Given the description of an element on the screen output the (x, y) to click on. 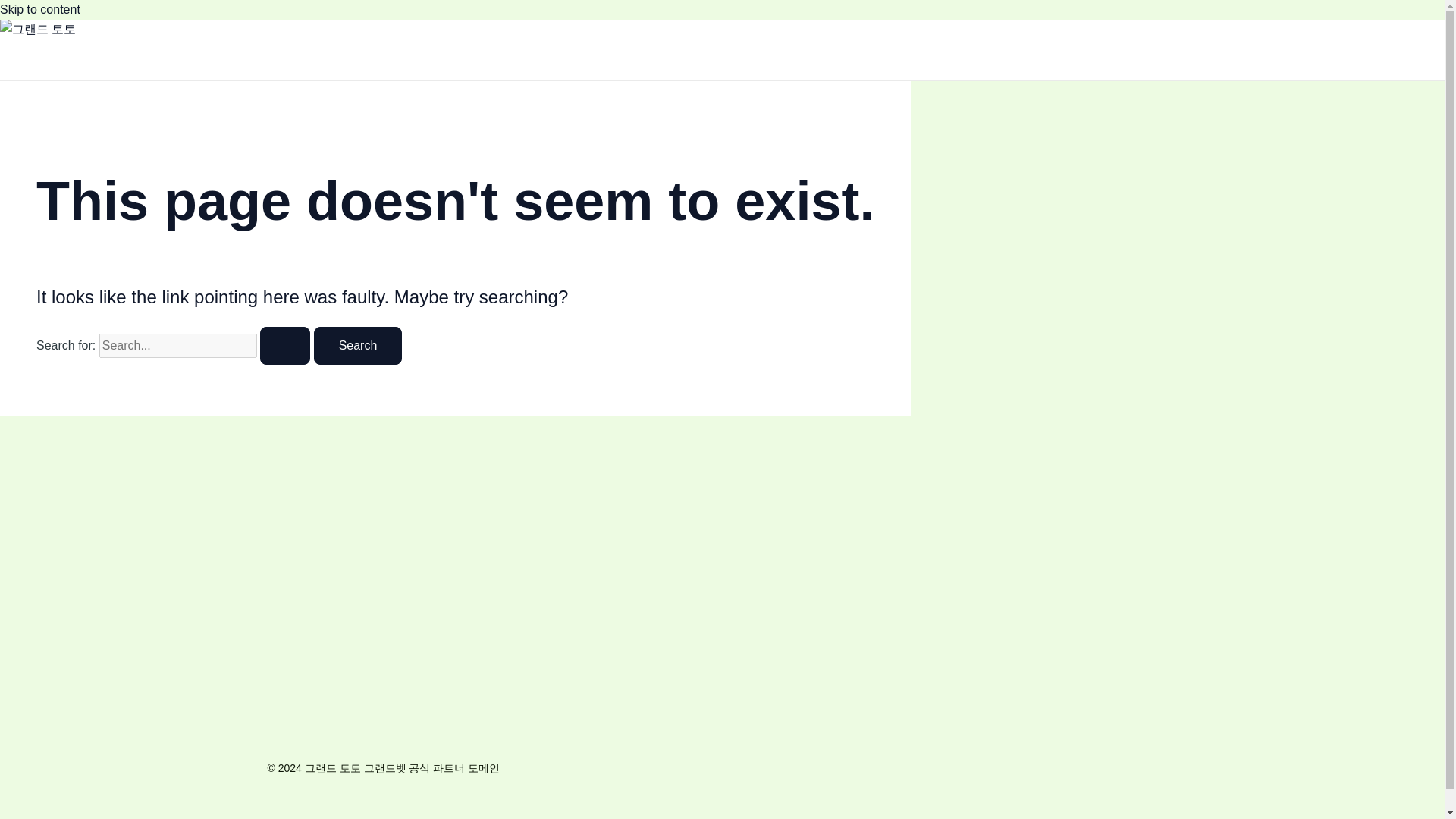
Search (358, 345)
Skip to content (40, 9)
Search (358, 345)
Search (358, 345)
Skip to content (40, 9)
